Given the description of an element on the screen output the (x, y) to click on. 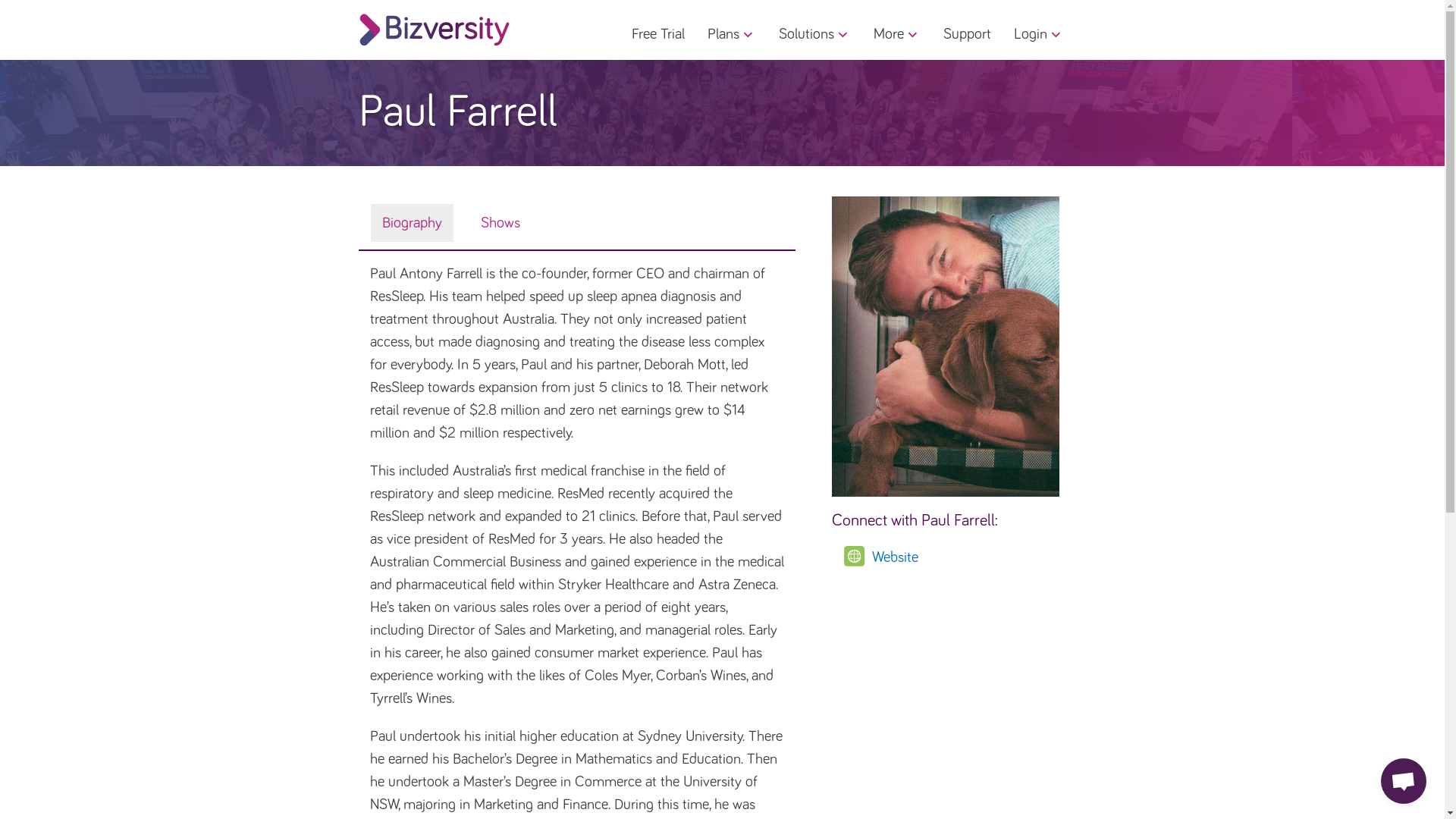
Free Trial (657, 33)
Plans (730, 33)
Website (958, 557)
Solutions (813, 33)
Support (967, 33)
Login (1037, 33)
More (896, 33)
Return to homepage (433, 29)
